Given the description of an element on the screen output the (x, y) to click on. 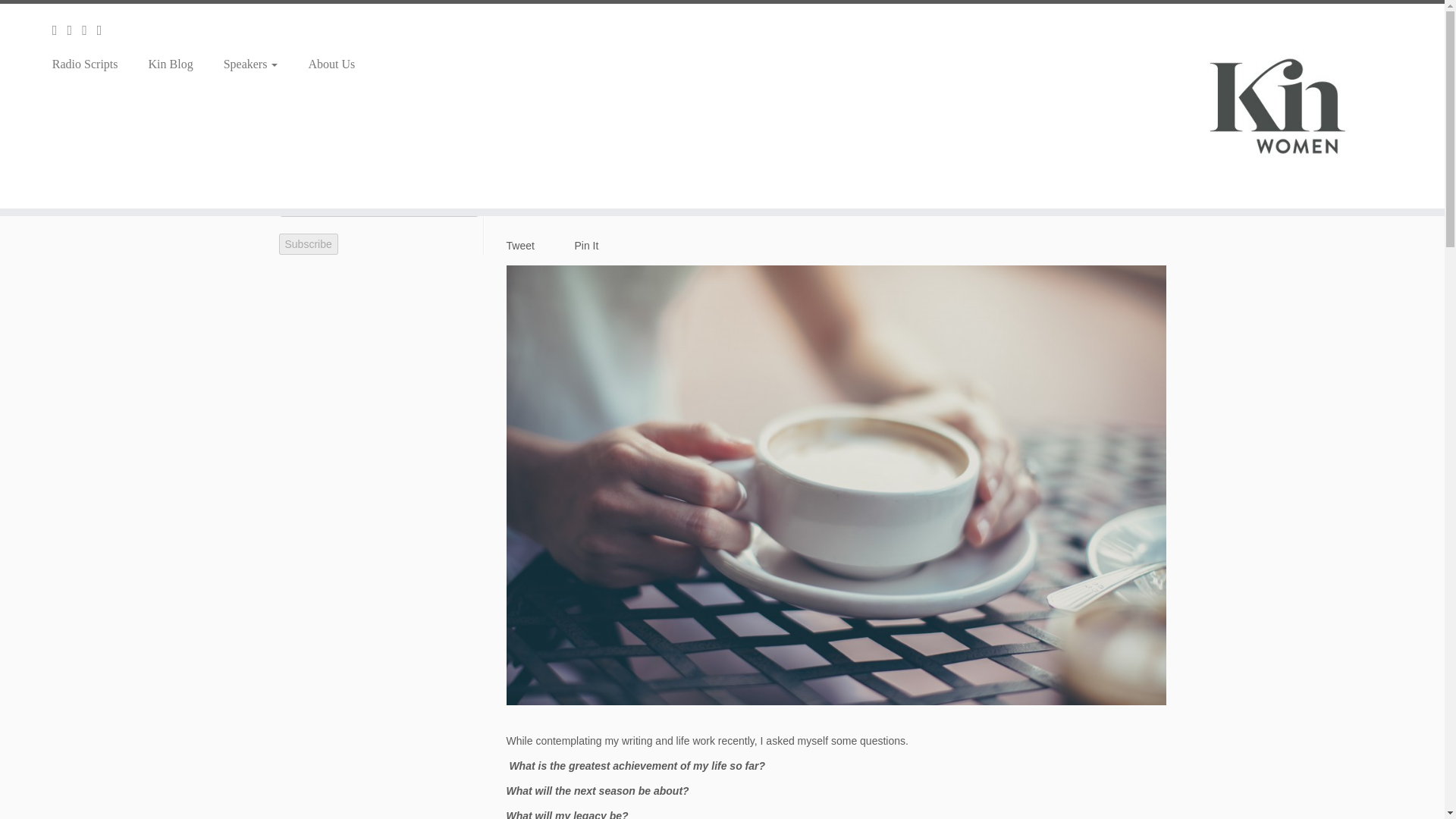
15 Aug, 2015 (533, 182)
View all posts in inspirartion (772, 182)
everyday (724, 182)
Pin It (586, 245)
View all posts in kinwomen (823, 182)
2015 everyday ordinary (623, 182)
Tweet (520, 245)
9:45 am (533, 182)
2015 everyday ordinary (424, 105)
motherhood (875, 182)
